Given the description of an element on the screen output the (x, y) to click on. 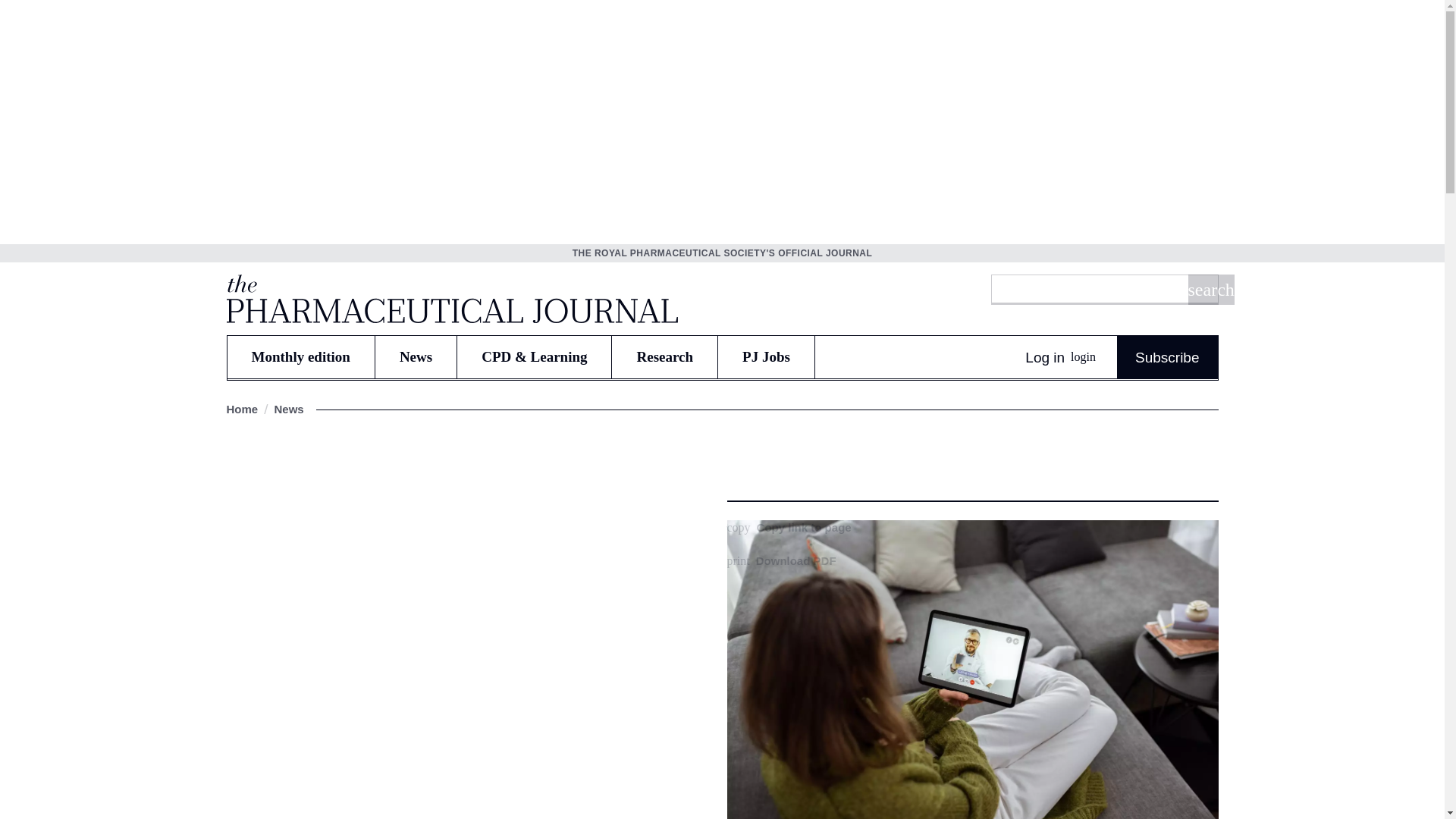
Monthly edition (300, 356)
The Pharmaceutical Journal (451, 298)
Search (1210, 289)
News (416, 356)
